Given the description of an element on the screen output the (x, y) to click on. 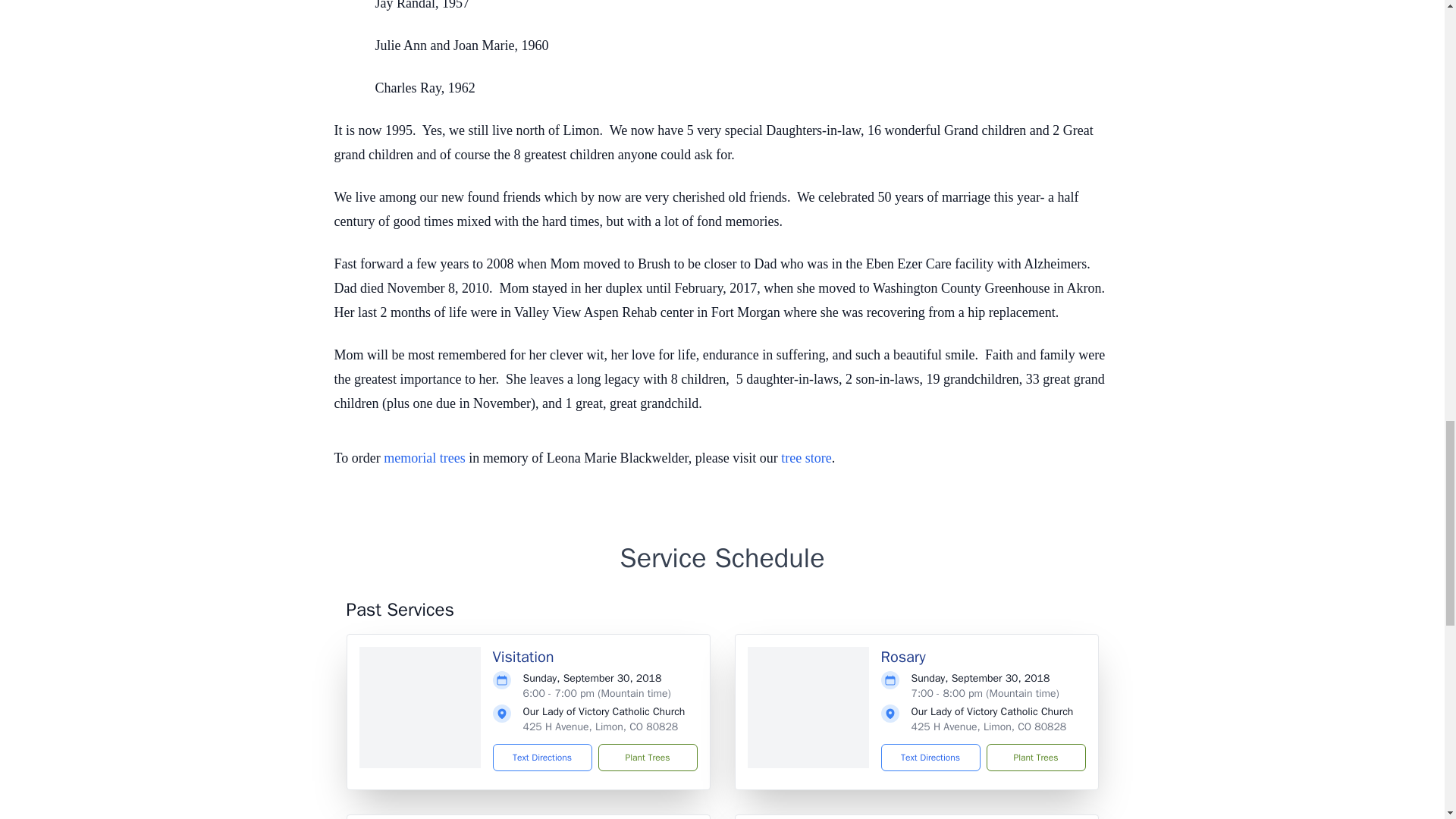
memorial trees (424, 458)
Text Directions (542, 757)
425 H Avenue, Limon, CO 80828 (989, 726)
Plant Trees (646, 757)
Plant Trees (1034, 757)
tree store (805, 458)
Text Directions (929, 757)
425 H Avenue, Limon, CO 80828 (600, 726)
